Given the description of an element on the screen output the (x, y) to click on. 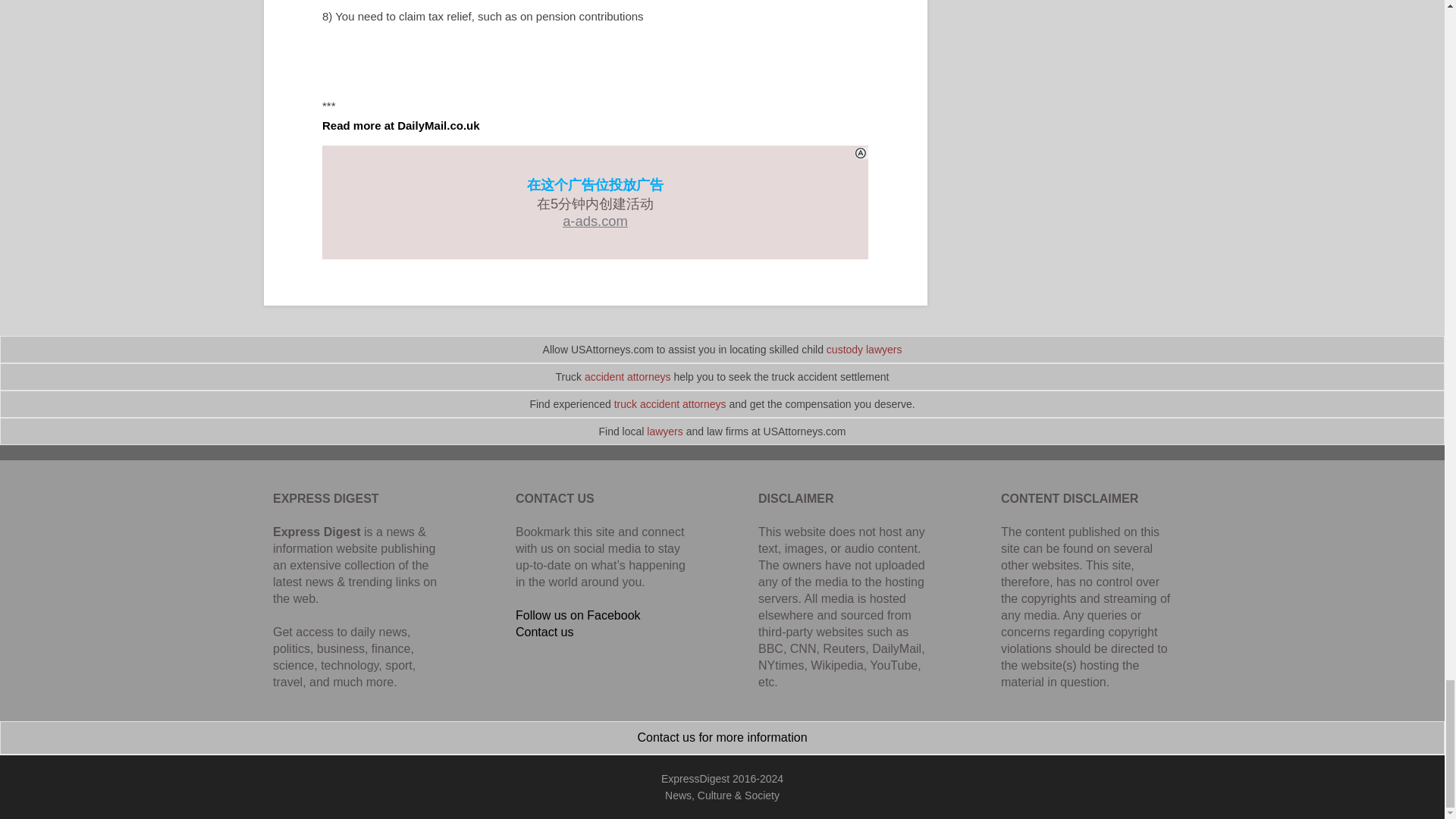
Read more at DailyMail.co.uk (400, 124)
lawyers (664, 431)
custody lawyers (864, 349)
accident attorneys (628, 377)
truck accident attorneys (670, 404)
